Given the description of an element on the screen output the (x, y) to click on. 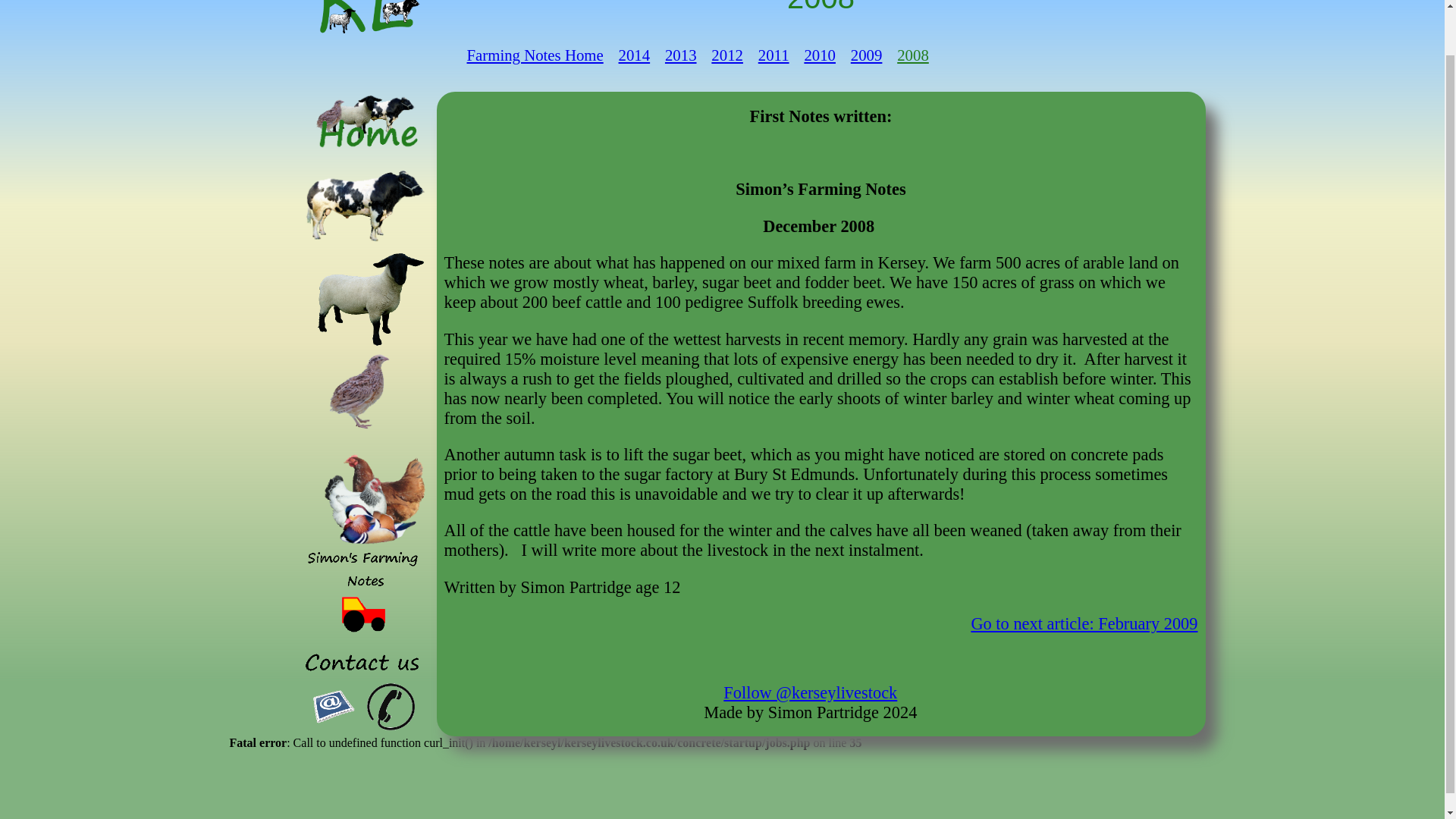
2008 (912, 54)
February (1083, 623)
2013 (681, 54)
Made by Simon Partridge 2024 (810, 711)
2009 (866, 54)
2011 (773, 54)
2014 (634, 54)
Go to next article: February 2009 (1083, 623)
Farming Notes Home (535, 54)
2012 (726, 54)
